Given the description of an element on the screen output the (x, y) to click on. 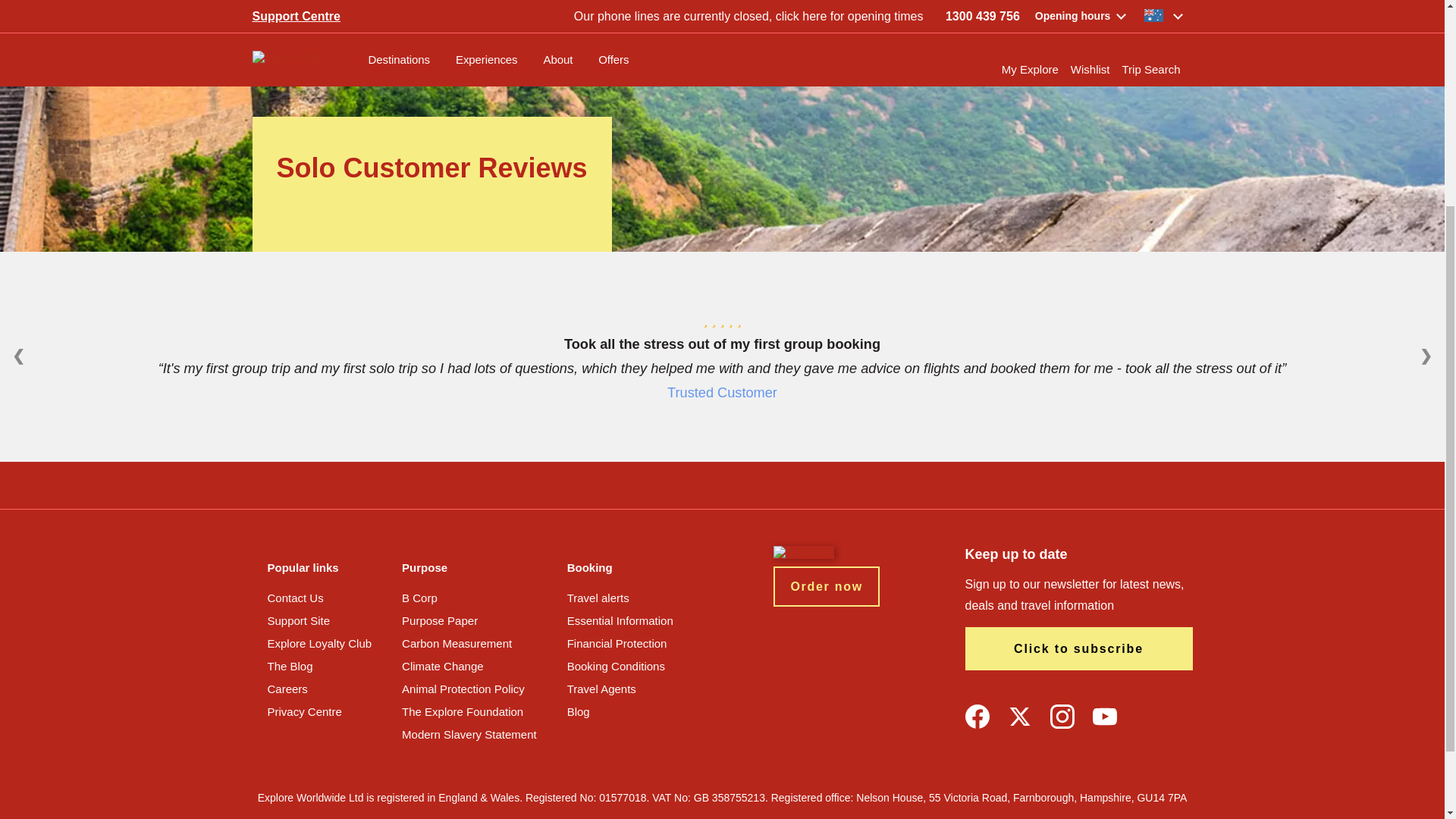
Instagram (1061, 716)
Facebook (975, 716)
YouTube (1104, 716)
Twitter (1018, 716)
